Given the description of an element on the screen output the (x, y) to click on. 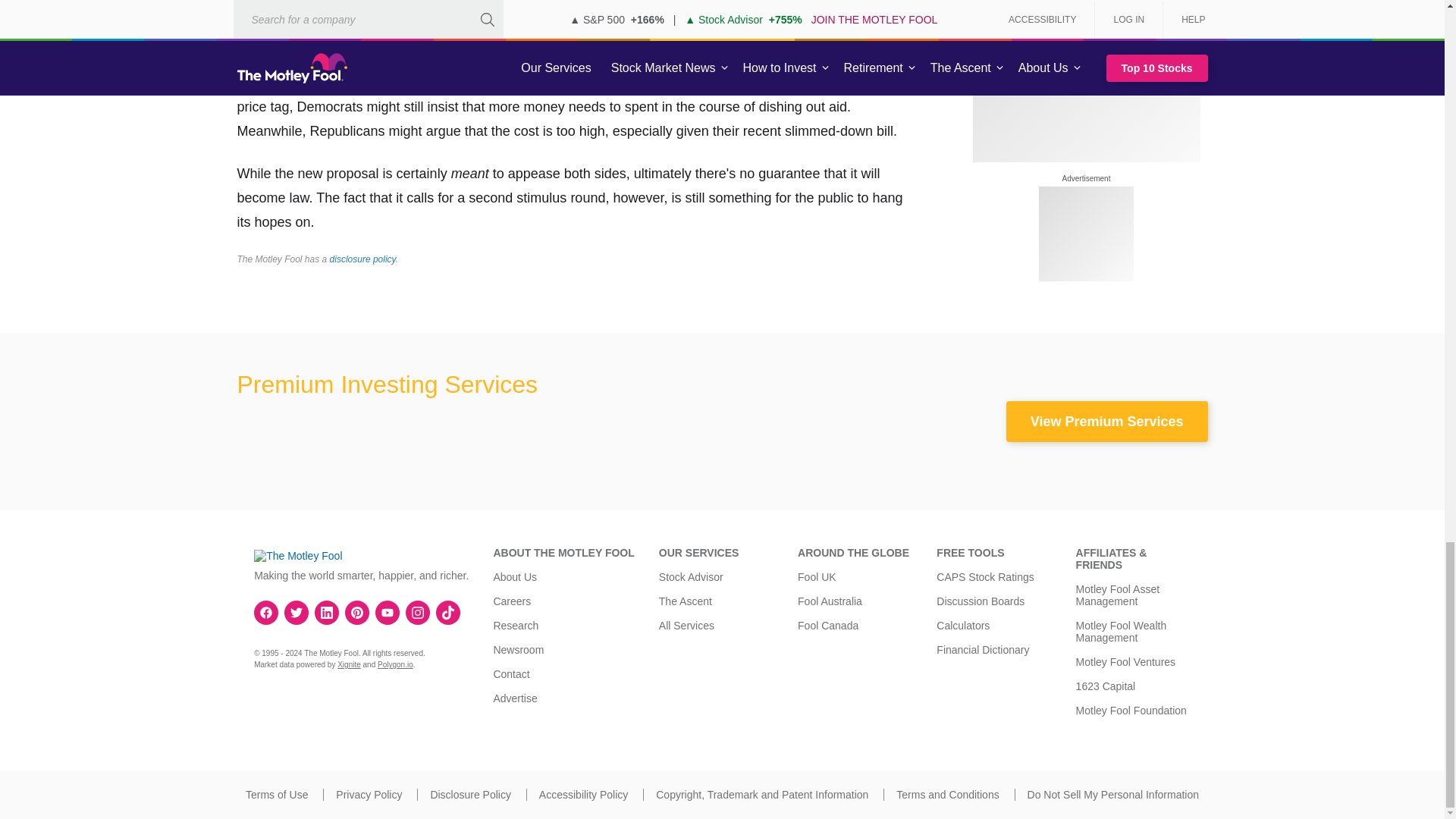
Privacy Policy (368, 794)
Terms and Conditions (947, 794)
Disclosure Policy (470, 794)
Do Not Sell My Personal Information. (1112, 794)
Terms of Use (276, 794)
Accessibility Policy (582, 794)
Copyright, Trademark and Patent Information (761, 794)
